Given the description of an element on the screen output the (x, y) to click on. 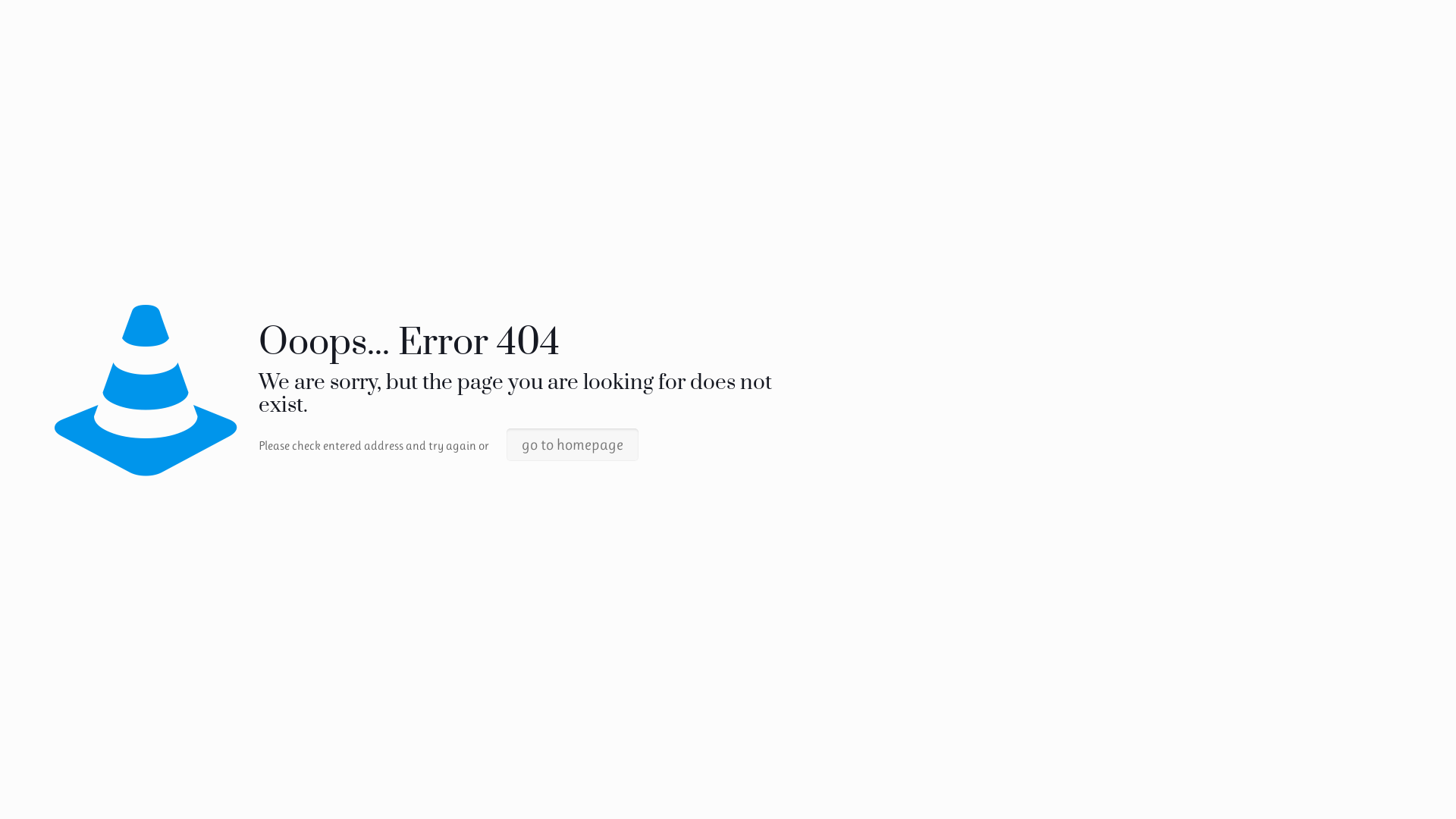
go to homepage Element type: text (572, 444)
